Given the description of an element on the screen output the (x, y) to click on. 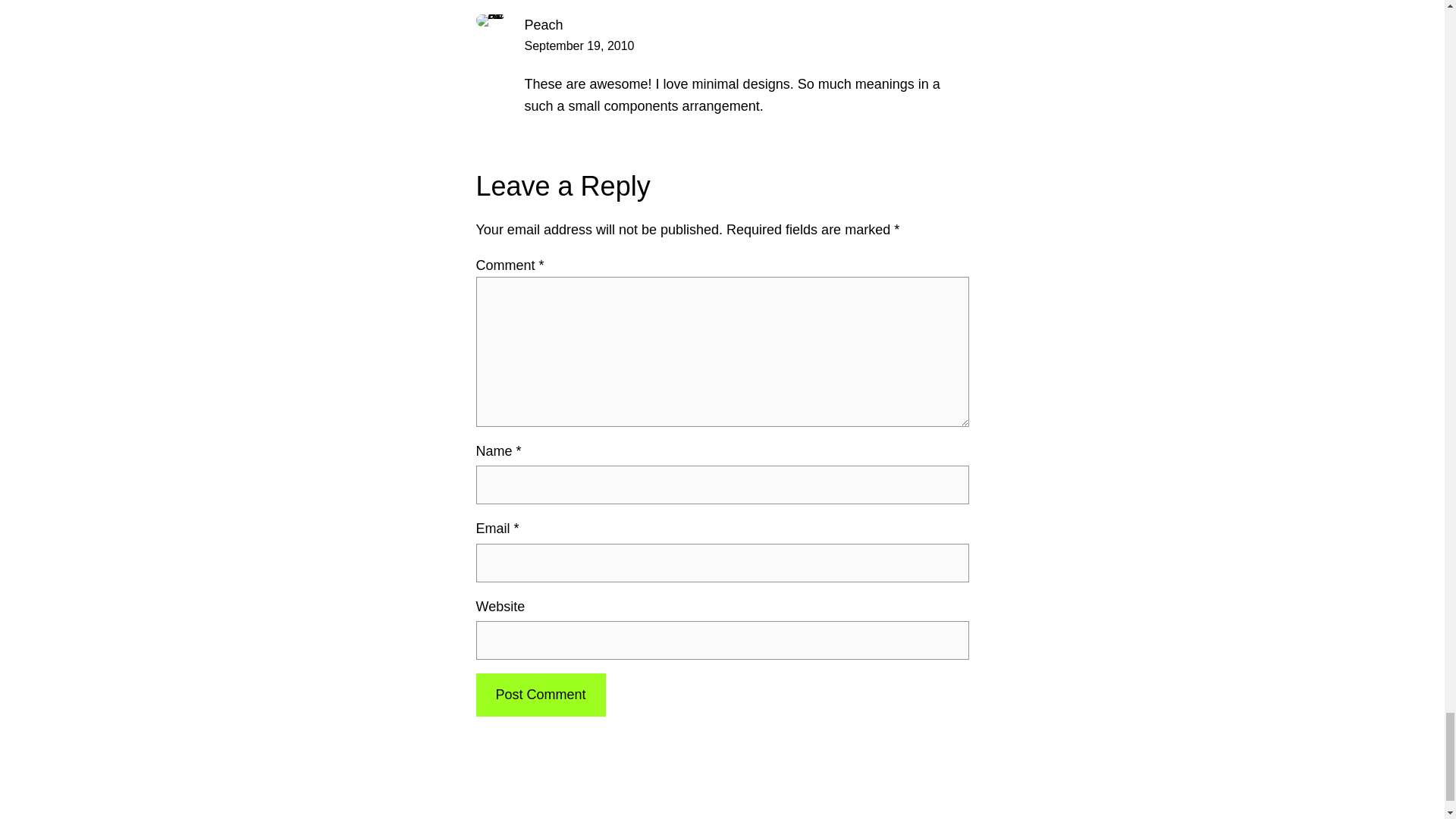
Peach (543, 24)
September 19, 2010 (579, 45)
Post Comment (540, 694)
Post Comment (540, 694)
